Given the description of an element on the screen output the (x, y) to click on. 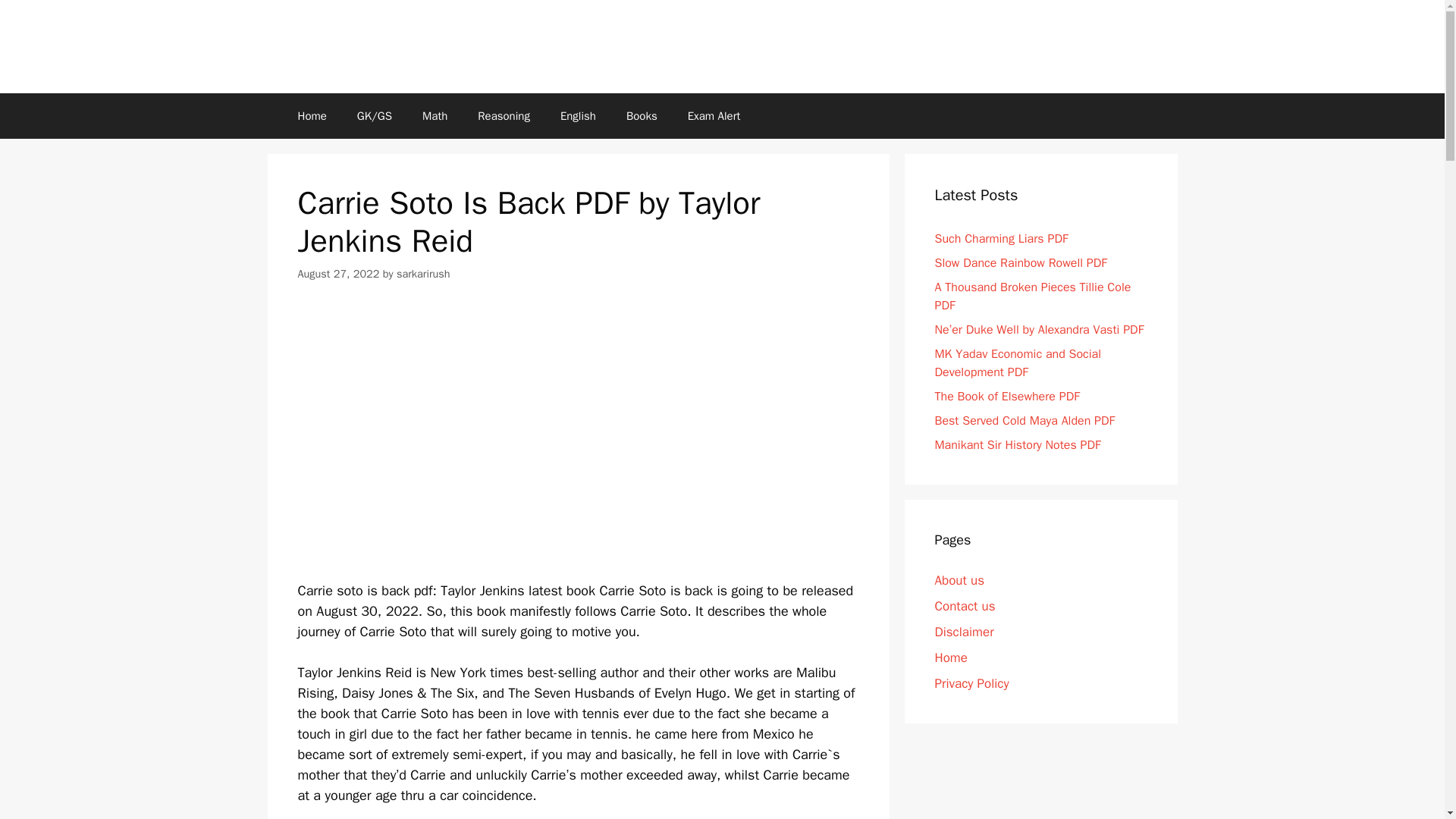
Home (311, 115)
View all posts by sarkarirush (422, 273)
Reasoning (503, 115)
sarkarirush (422, 273)
Exam Alert (713, 115)
English (577, 115)
Books (641, 115)
Math (435, 115)
